Given the description of an element on the screen output the (x, y) to click on. 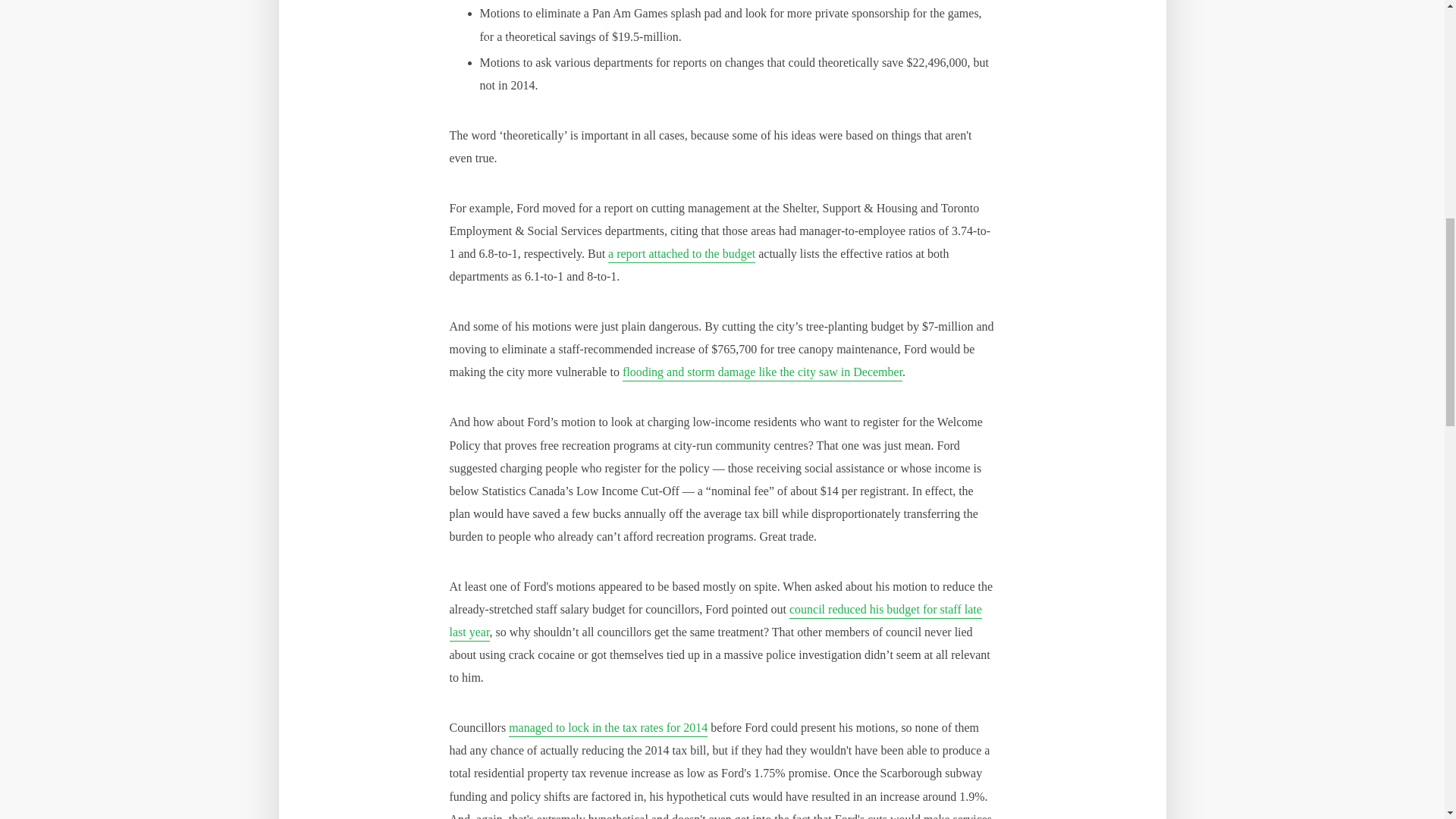
council reduced his budget for staff late last year (714, 621)
flooding and storm damage like the city saw in December (762, 373)
managed to lock in the tax rates for 2014 (607, 729)
a report attached to the budget (681, 254)
